Given the description of an element on the screen output the (x, y) to click on. 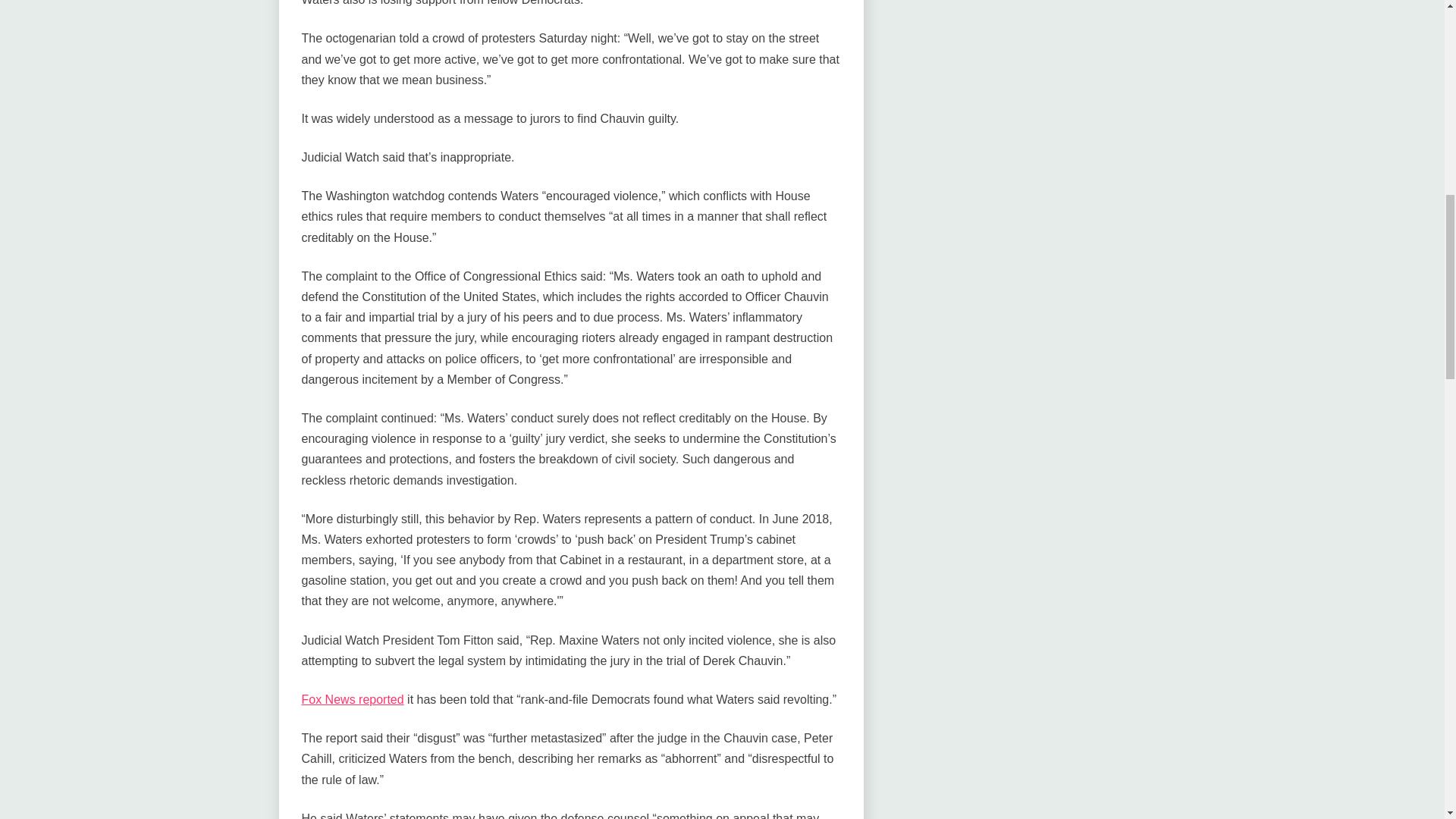
Fox News reported (352, 698)
